Given the description of an element on the screen output the (x, y) to click on. 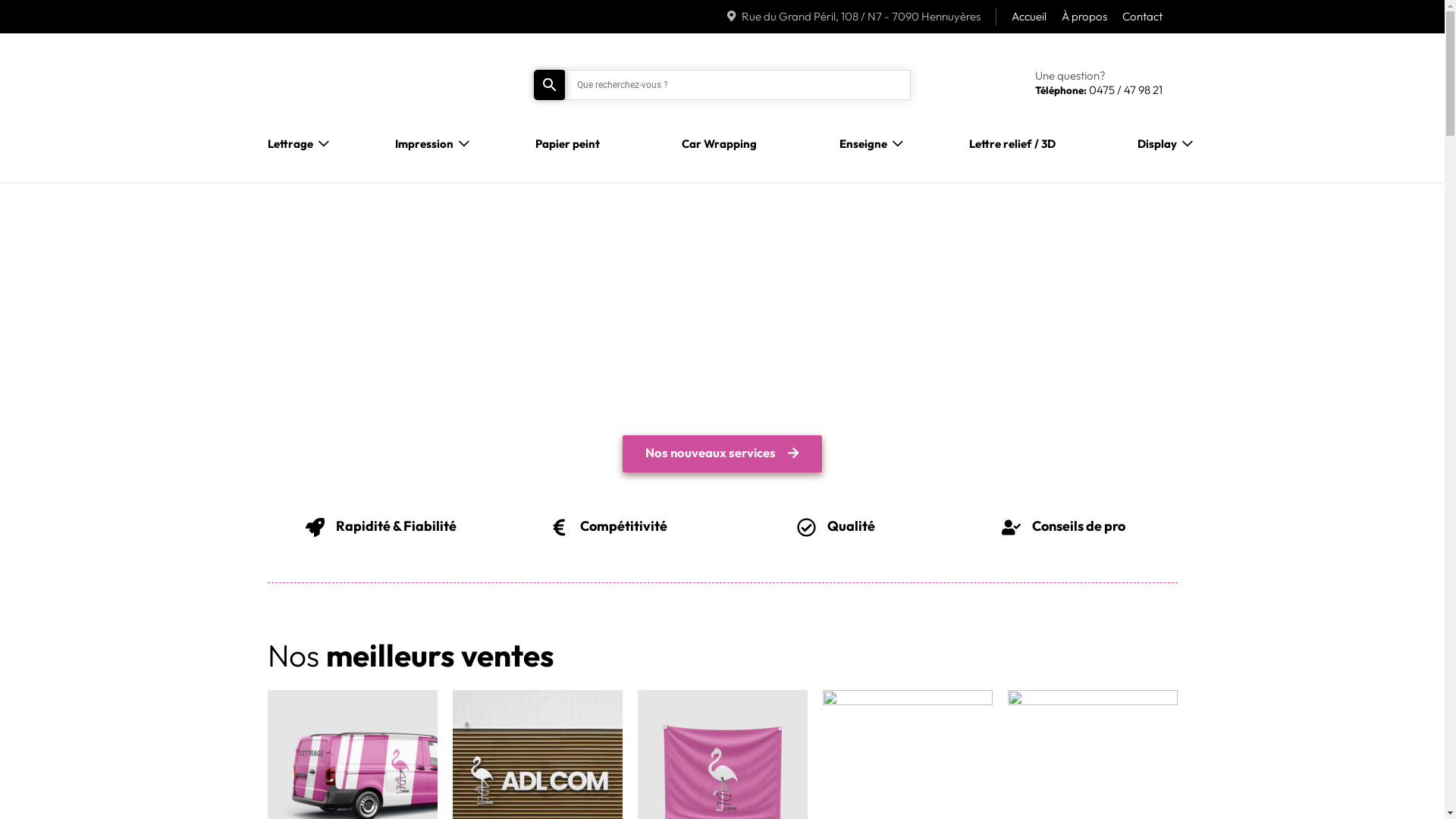
Accueil Element type: text (1028, 16)
Display Element type: text (1156, 143)
ADL Com Element type: text (289, 55)
Car Wrapping Element type: text (718, 143)
Contact Element type: text (1142, 16)
Papier peint Element type: text (567, 143)
Enseigne Element type: text (863, 143)
Impression Element type: text (424, 143)
Lettre relief / 3D Element type: text (1012, 143)
Lettrage Element type: text (289, 143)
Nos nouveaux services Element type: text (722, 453)
